Given the description of an element on the screen output the (x, y) to click on. 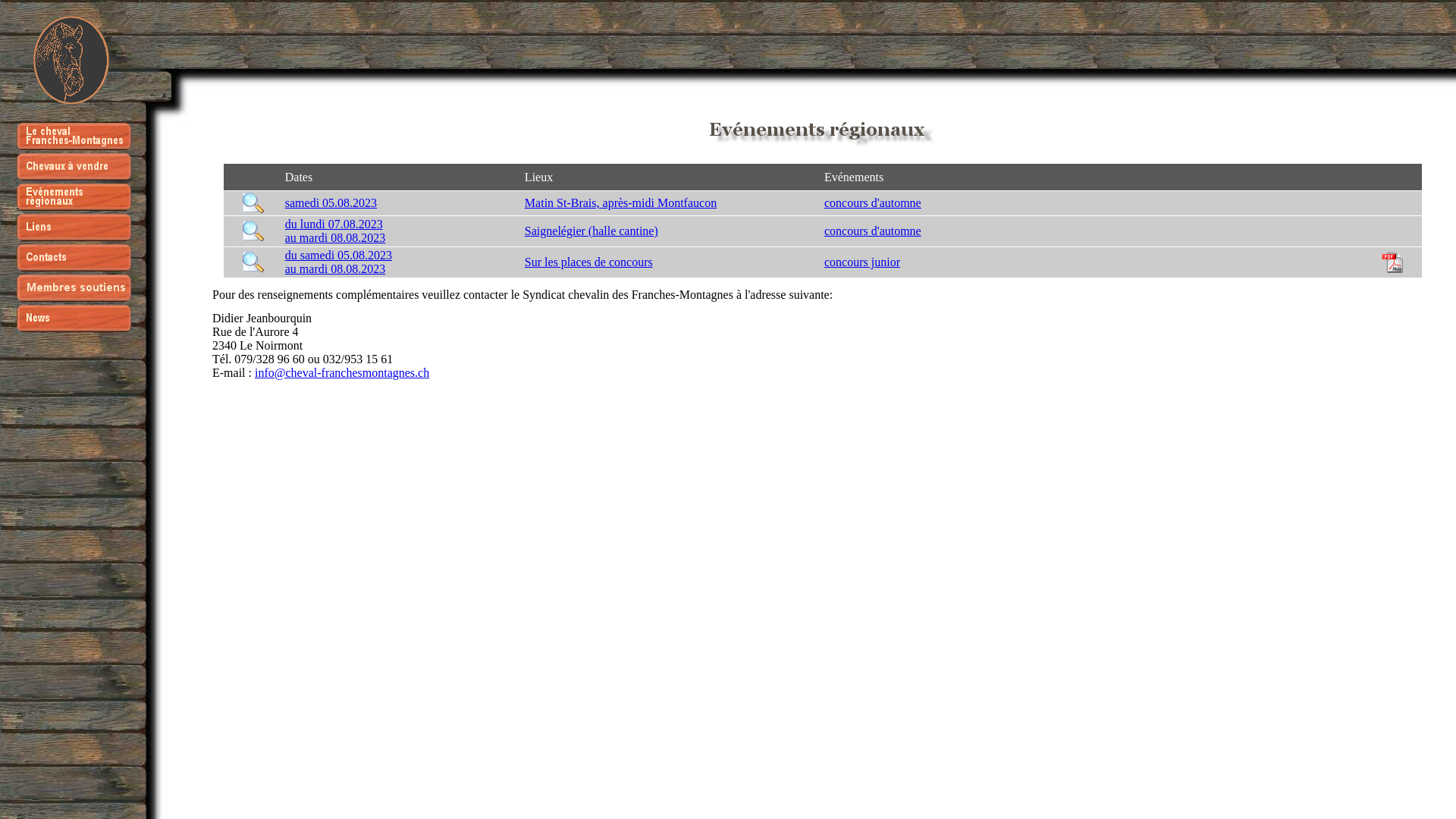
concours d'automne Element type: text (872, 202)
info@cheval-franchesmontagnes.ch Element type: text (341, 371)
du samedi 05.08.2023
au mardi 08.08.2023 Element type: text (338, 261)
concours junior Element type: text (862, 261)
concours d'automne Element type: text (872, 230)
samedi 05.08.2023 Element type: text (330, 202)
du lundi 07.08.2023
au mardi 08.08.2023 Element type: text (335, 230)
Sur les places de concours Element type: text (588, 261)
